Given the description of an element on the screen output the (x, y) to click on. 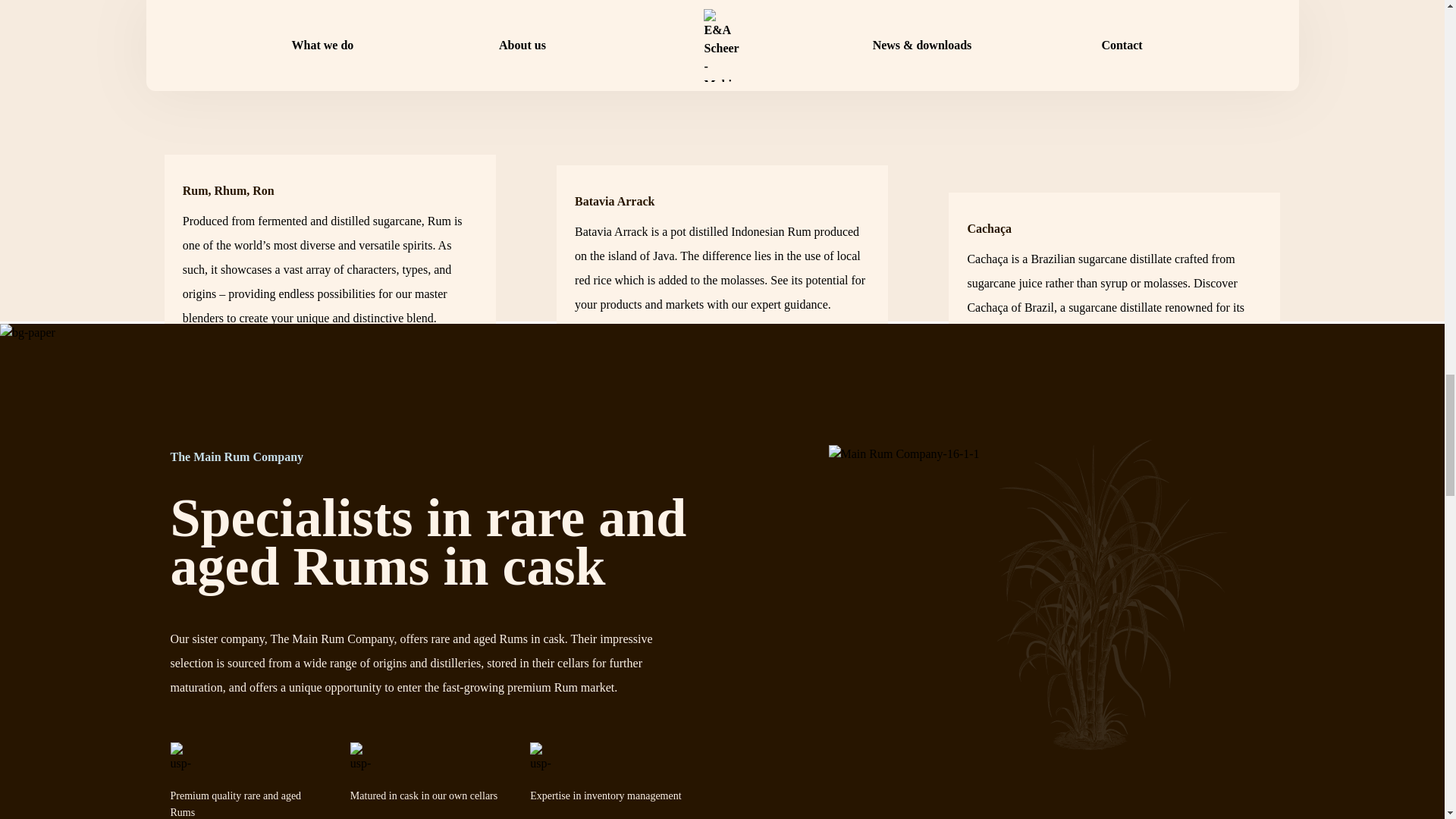
Learn more (1037, 377)
Batavia Arrack (614, 201)
Learn more (646, 350)
Rum, Rhum, Ron (229, 191)
Learn more (253, 363)
